Given the description of an element on the screen output the (x, y) to click on. 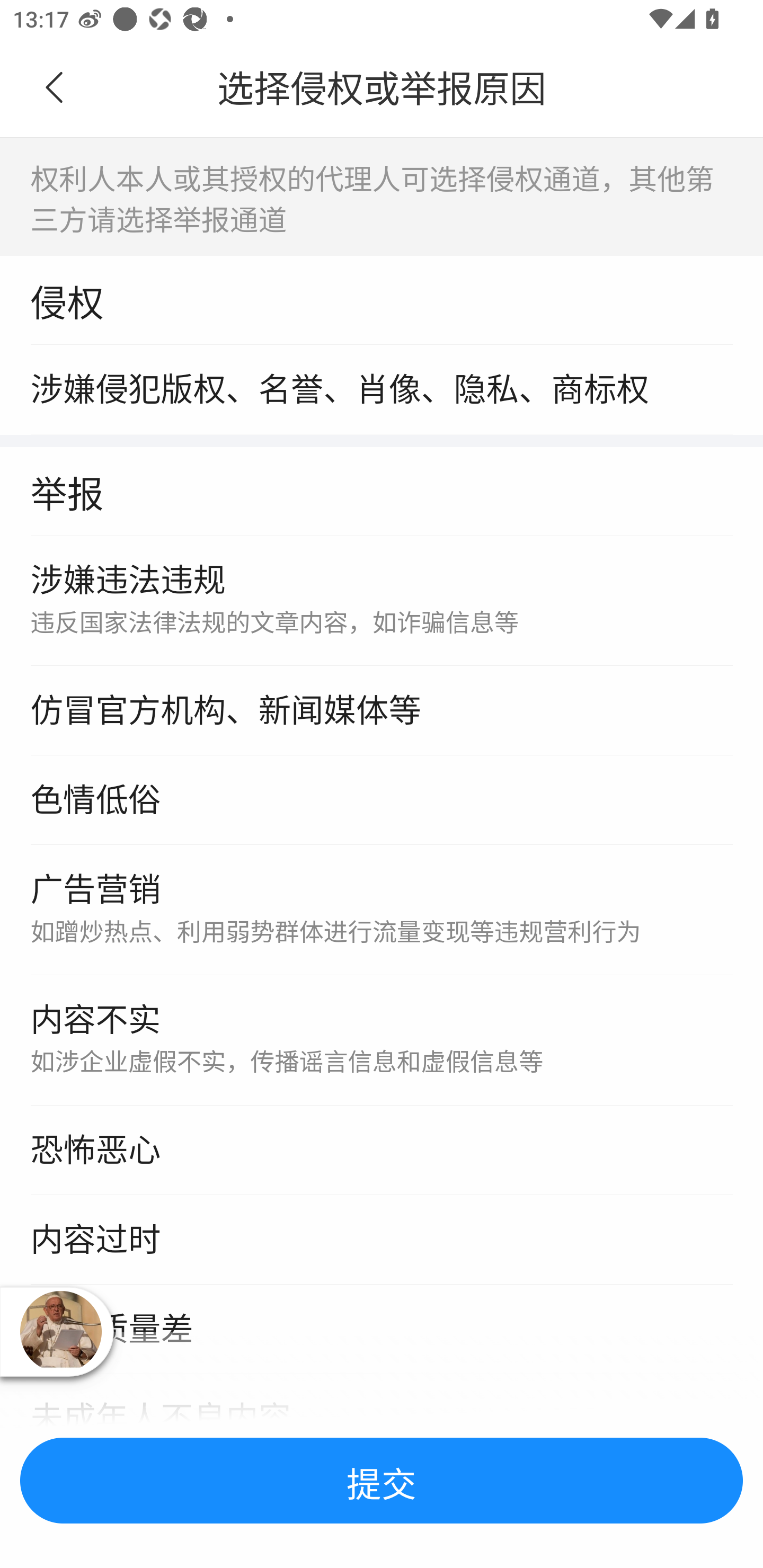
 返回 (54, 87)
选择侵权或举报原因 (381, 88)
涉嫌侵犯版权、名誉、肖像、隐私、商标权 (381, 389)
涉嫌违法违规 违反国家法律法规的文章内容，如诈骗信息等 (381, 600)
仿冒官方机构、新闻媒体等 (381, 710)
色情低俗 (381, 800)
广告营销 如蹭炒热点、利用弱势群体进行流量变现等违规营利行为 (381, 910)
内容不实 如涉企业虚假不实，传播谣言信息和虚假信息等 (381, 1041)
恐怖恶心 (381, 1150)
内容过时 (381, 1239)
播放器 (60, 1331)
提交 (381, 1480)
